Given the description of an element on the screen output the (x, y) to click on. 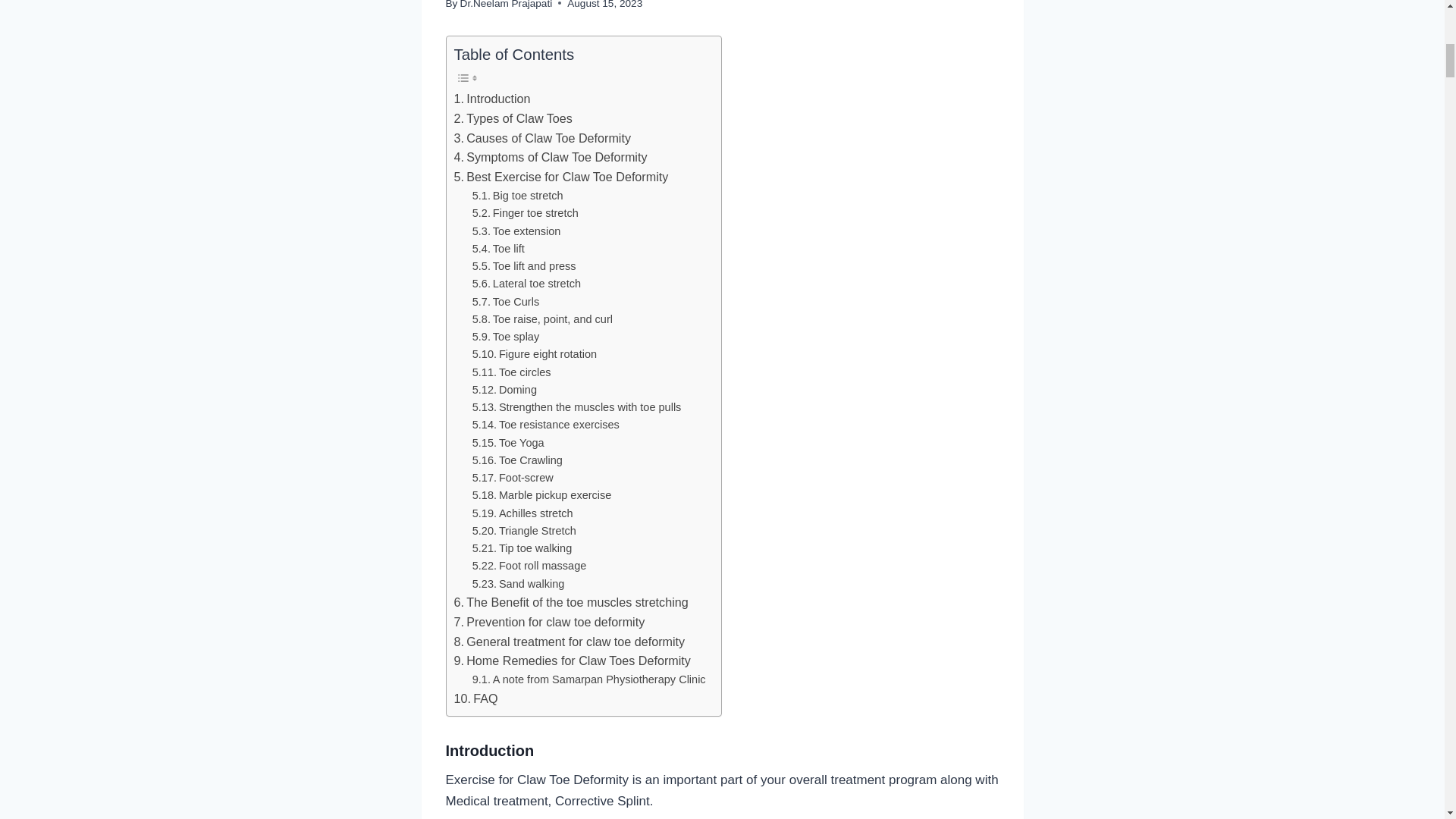
Introduction (490, 98)
Toe extension (515, 231)
Symptoms of Claw Toe Deformity (549, 157)
Big toe stretch (517, 195)
Dr.Neelam Prajapati (506, 4)
Types of Claw Toes (512, 118)
Causes of Claw Toe Deformity (541, 138)
Introduction (490, 98)
Toe Curls (504, 302)
Lateral toe stretch (525, 283)
Finger toe stretch (524, 212)
Types of Claw Toes (512, 118)
Best Exercise for Claw Toe Deformity (560, 177)
Toe lift (497, 248)
Toe lift and press (523, 266)
